Given the description of an element on the screen output the (x, y) to click on. 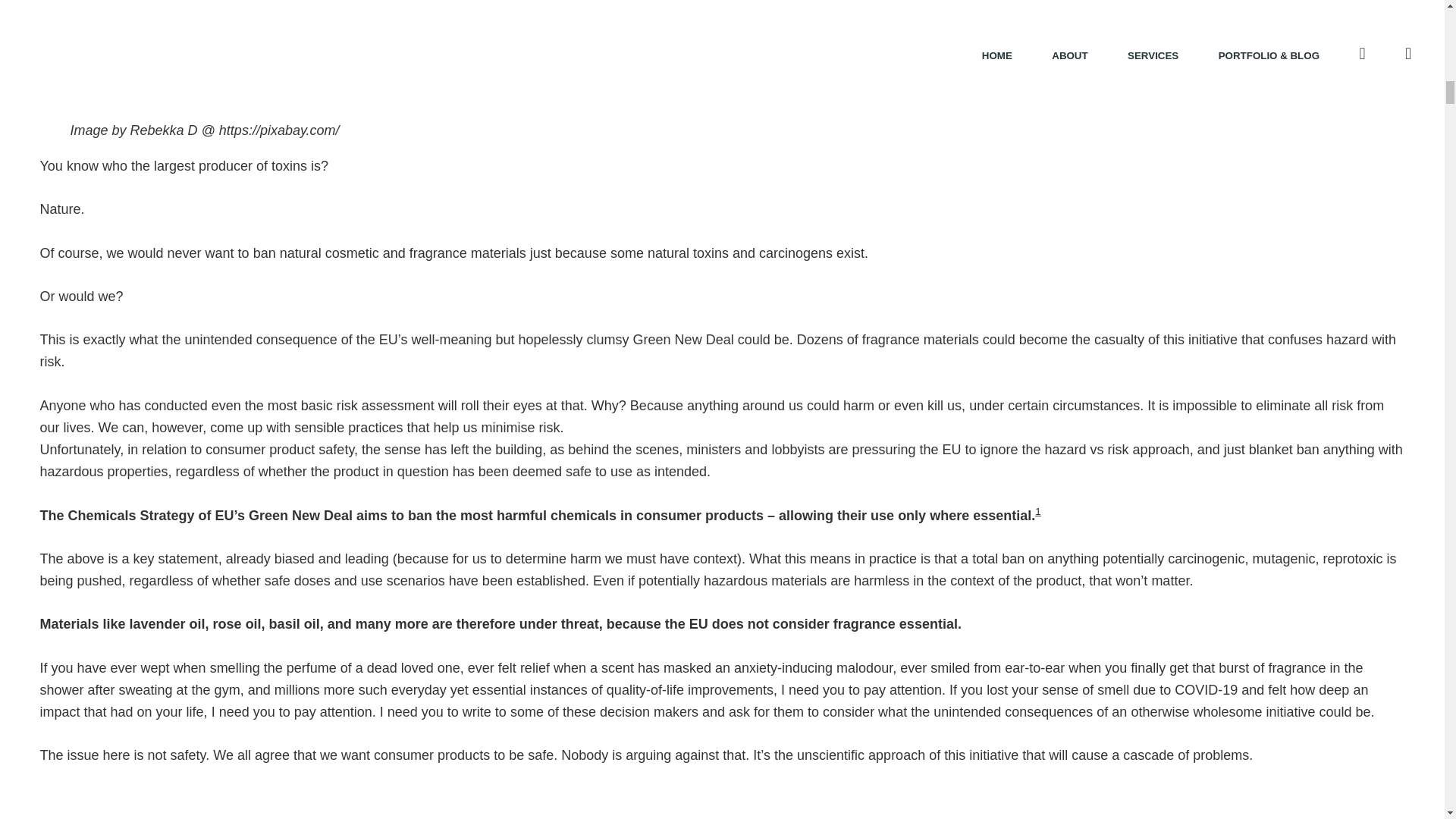
1 (1038, 511)
